Given the description of an element on the screen output the (x, y) to click on. 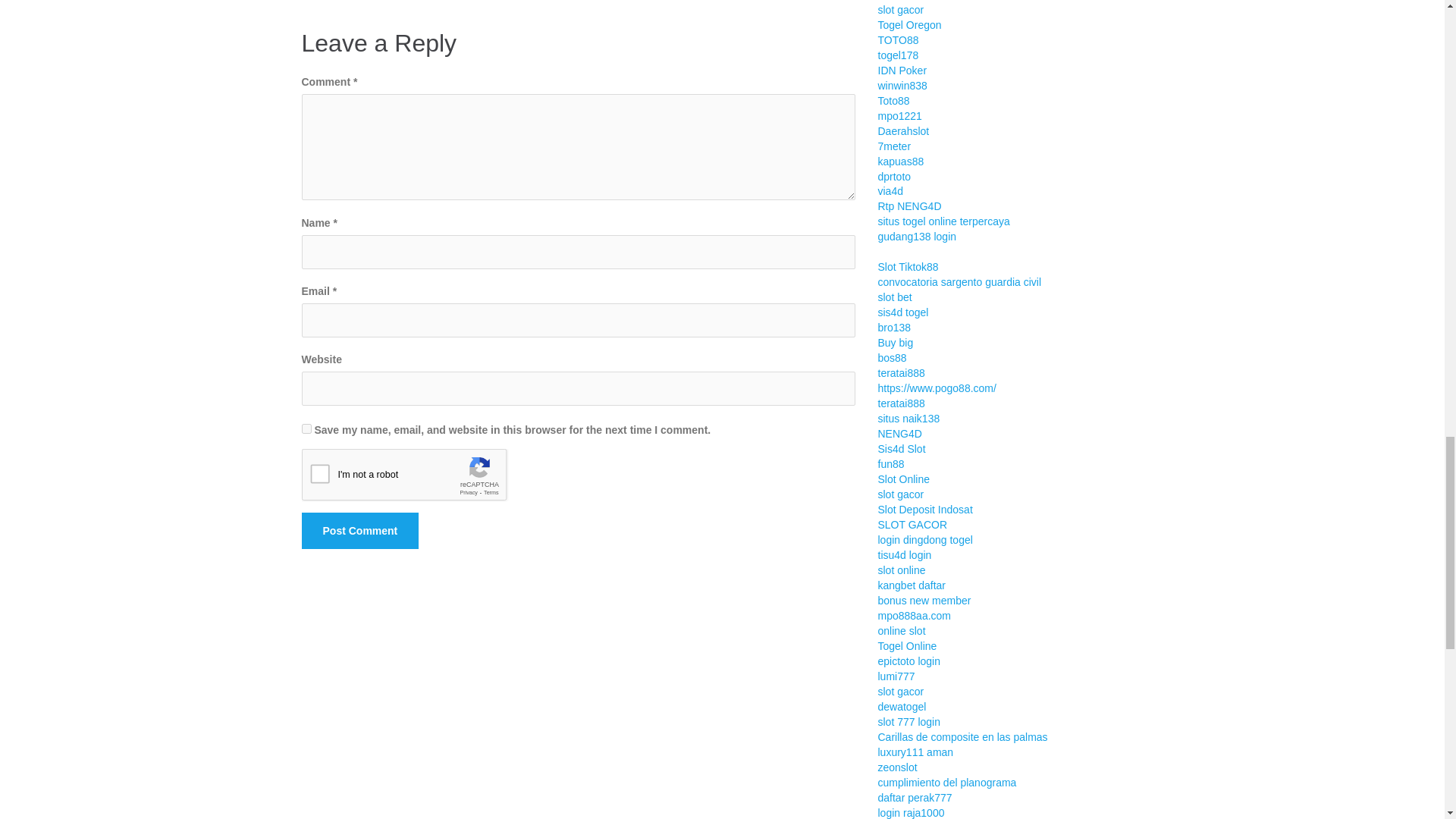
Post Comment (360, 530)
reCAPTCHA (416, 477)
Post Comment (360, 530)
yes (306, 429)
